Given the description of an element on the screen output the (x, y) to click on. 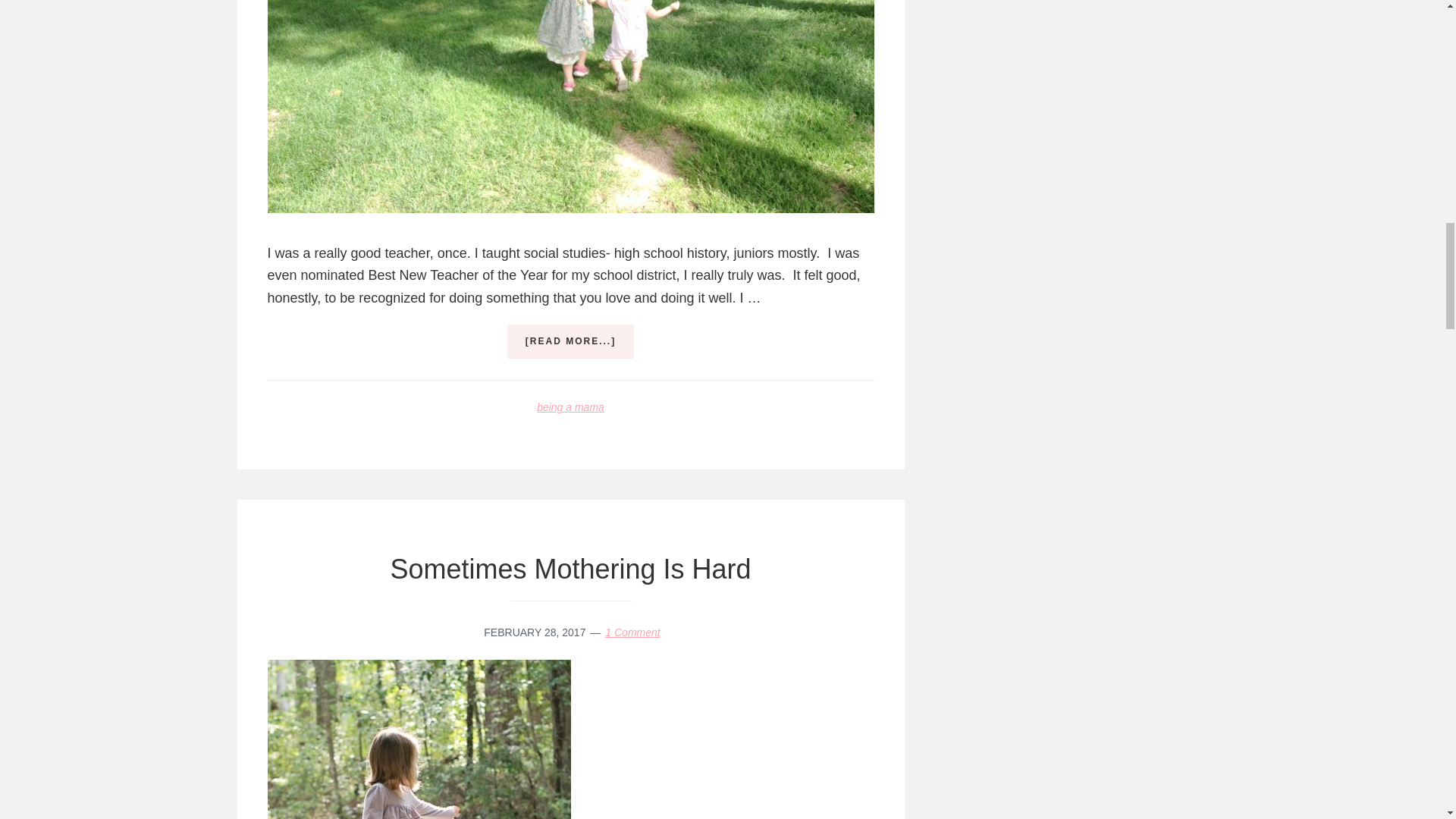
being a mama (570, 407)
1 Comment (632, 632)
Sometimes Mothering Is Hard (570, 568)
